Given the description of an element on the screen output the (x, y) to click on. 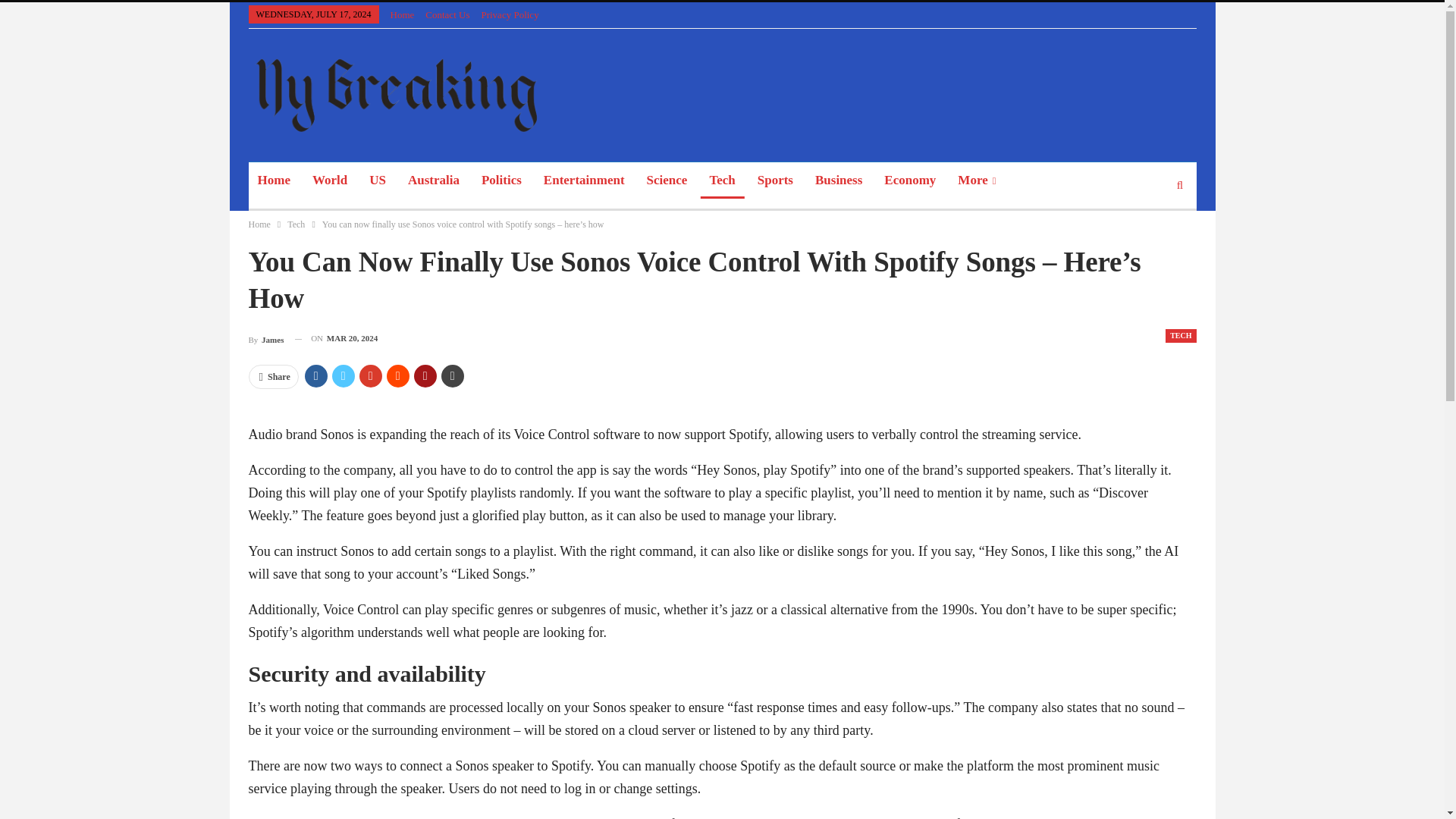
Browse Author Articles (265, 338)
Science (667, 180)
Sports (775, 180)
By James (265, 338)
Tech (295, 224)
Tech (722, 180)
Business (838, 180)
Home (273, 180)
TECH (1180, 336)
World (329, 180)
Australia (433, 180)
Home (259, 224)
Economy (909, 180)
Home (402, 14)
Entertainment (583, 180)
